Given the description of an element on the screen output the (x, y) to click on. 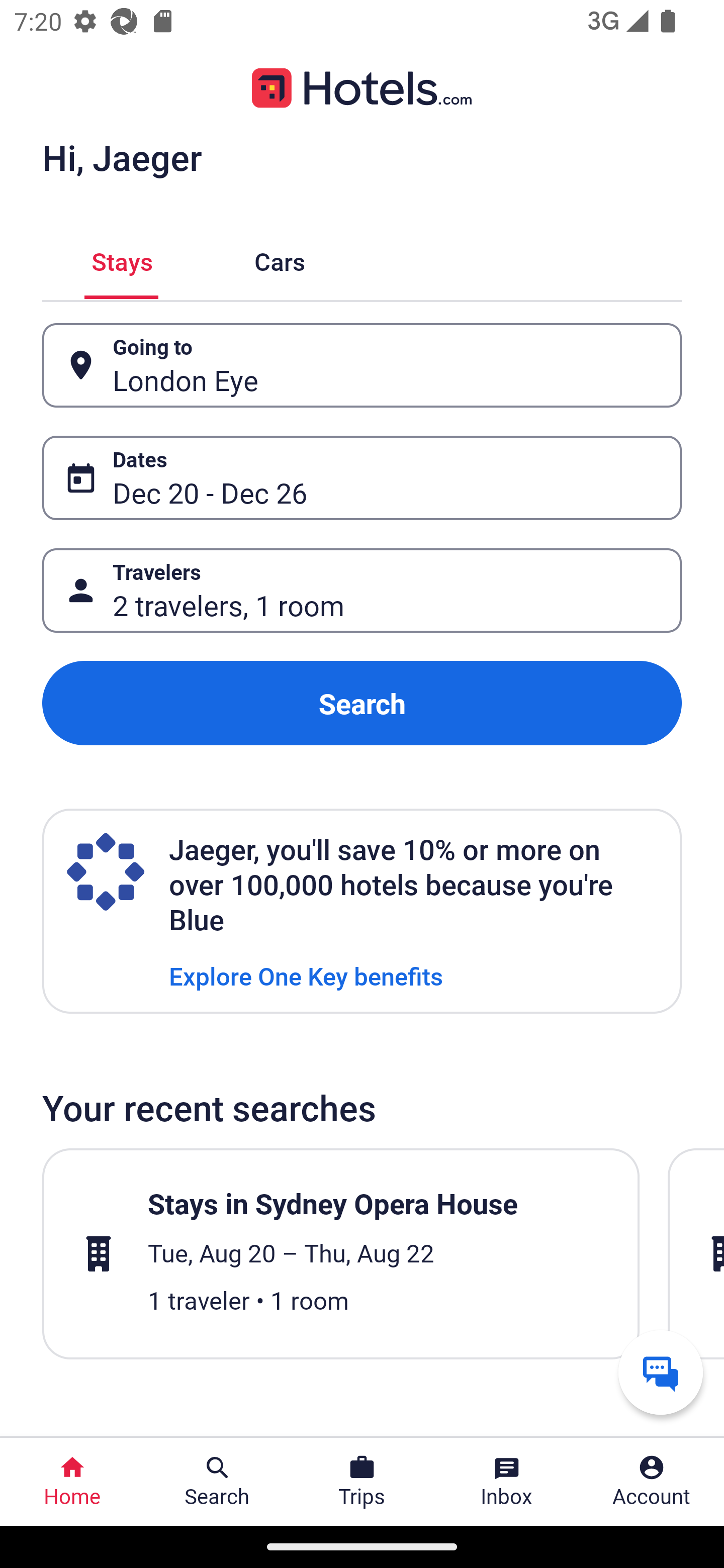
Hi, Jaeger (121, 156)
Cars (279, 259)
Going to Button London Eye (361, 365)
Dates Button Dec 20 - Dec 26 (361, 477)
Travelers Button 2 travelers, 1 room (361, 590)
Search (361, 702)
Get help from a virtual agent (660, 1371)
Search Search Button (216, 1481)
Trips Trips Button (361, 1481)
Inbox Inbox Button (506, 1481)
Account Profile. Button (651, 1481)
